Given the description of an element on the screen output the (x, y) to click on. 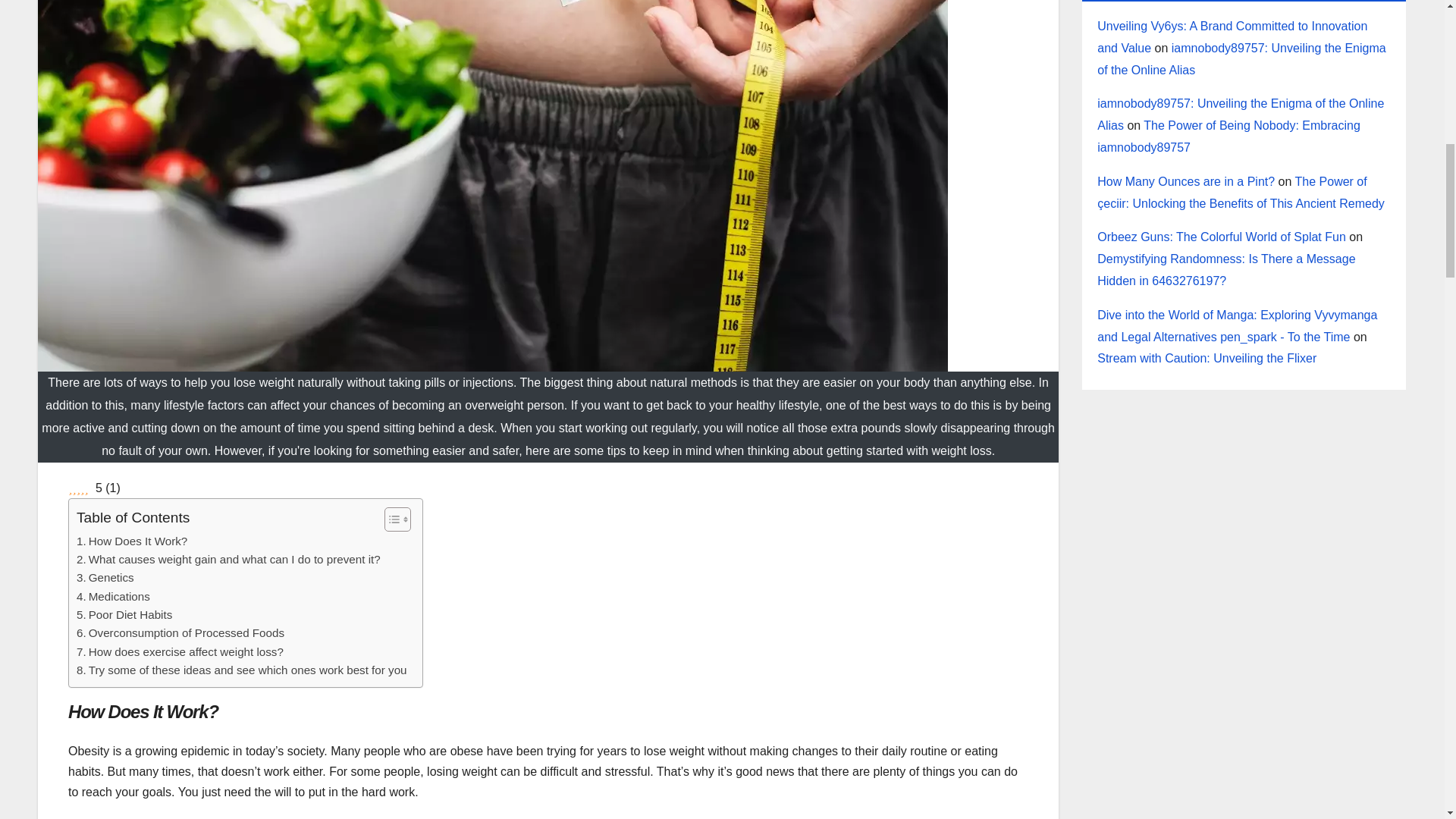
How Does It Work? (132, 541)
Overconsumption of Processed Foods (180, 633)
Poor Diet Habits (124, 615)
Medications (113, 597)
Genetics (105, 577)
What causes weight gain and what can I do to prevent it? (228, 559)
